Given the description of an element on the screen output the (x, y) to click on. 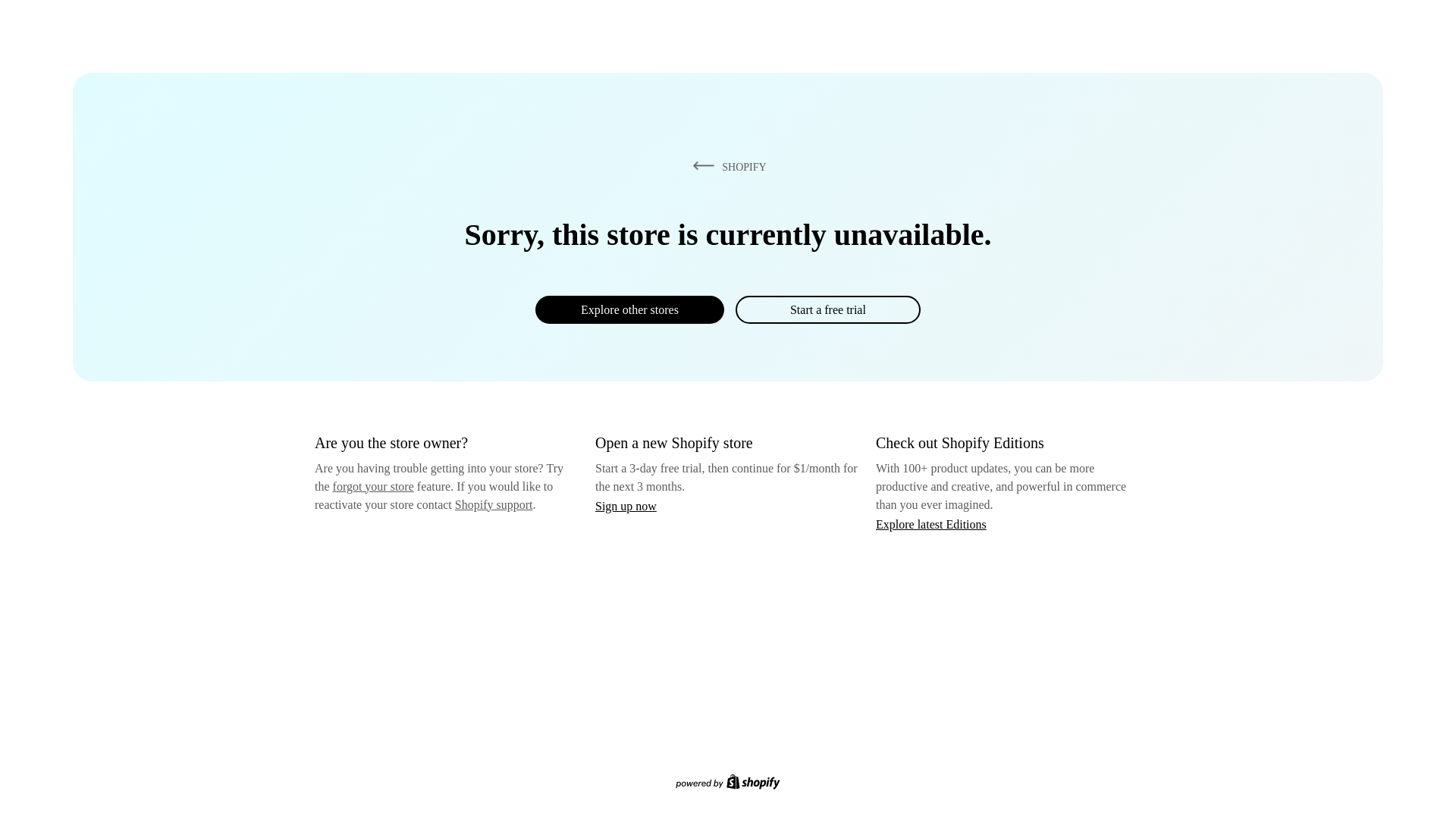
Explore other stores (629, 309)
Sign up now (625, 505)
Shopify support (493, 504)
SHOPIFY (726, 166)
forgot your store (373, 486)
Start a free trial (827, 309)
Explore latest Editions (931, 523)
